Given the description of an element on the screen output the (x, y) to click on. 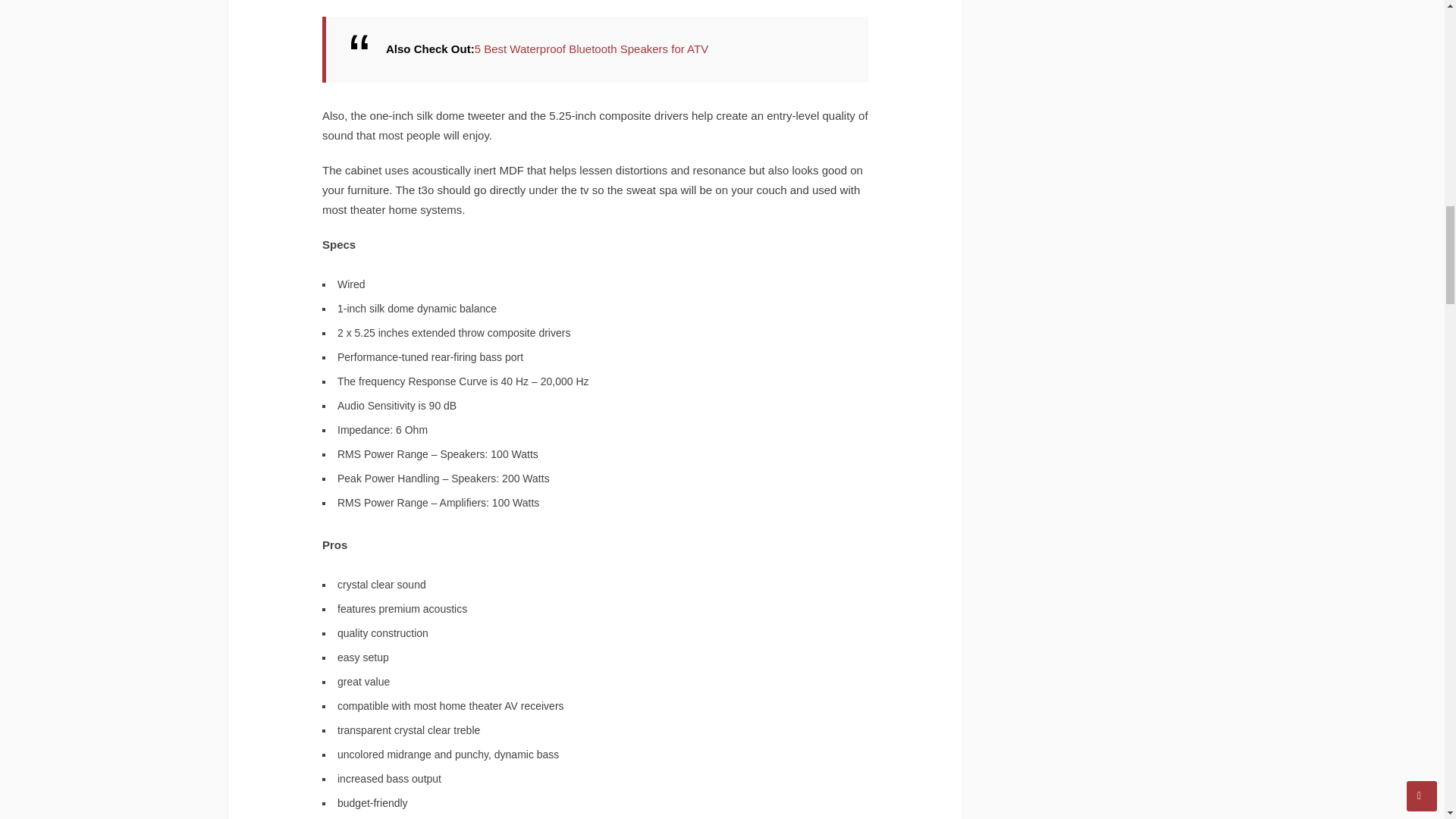
5 Best Waterproof Bluetooth Speakers for ATV (591, 48)
